Given the description of an element on the screen output the (x, y) to click on. 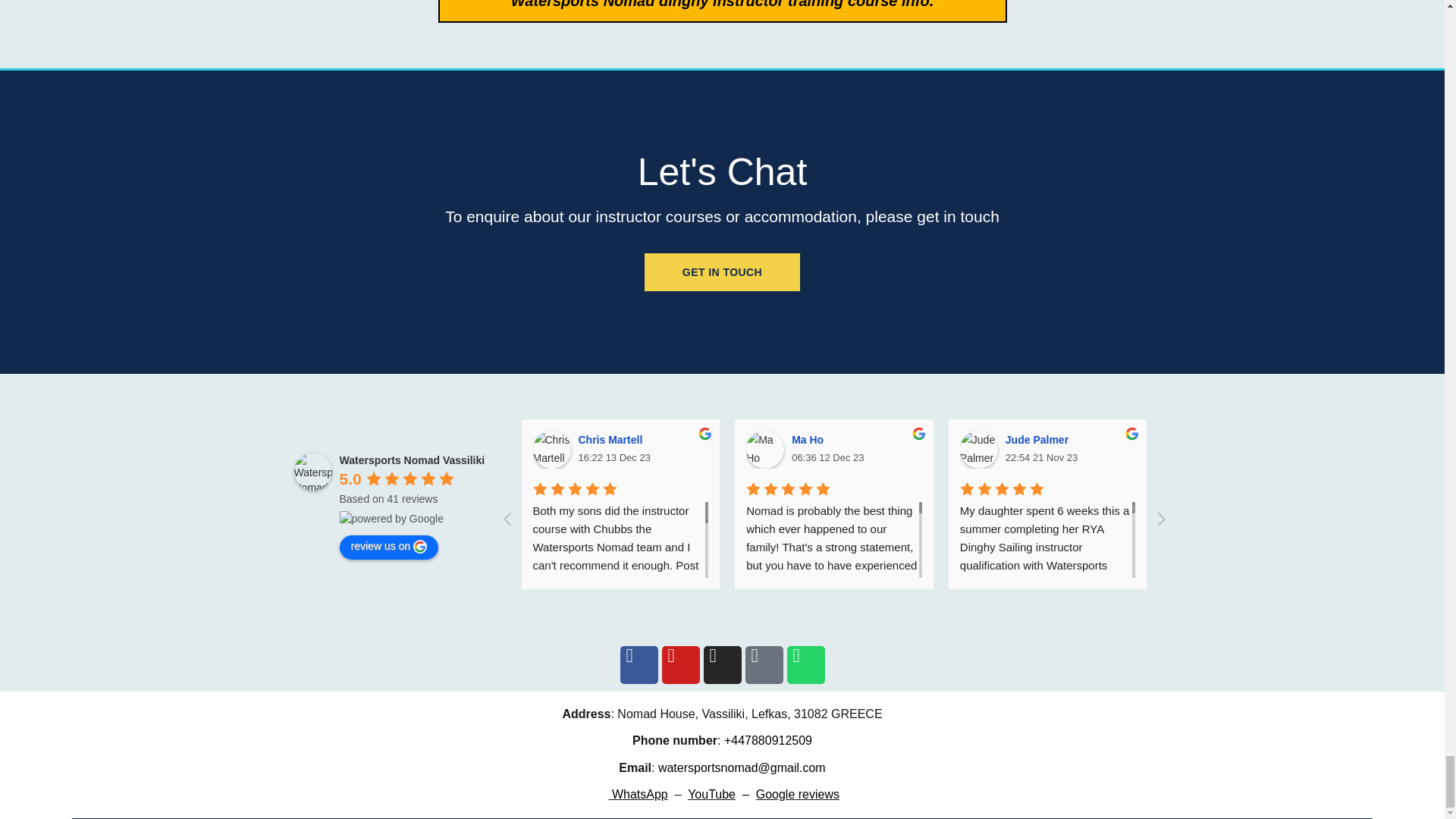
Watersports Nomad Vassiliki (312, 471)
powered by Google (391, 518)
Chris Martell (551, 449)
